Given the description of an element on the screen output the (x, y) to click on. 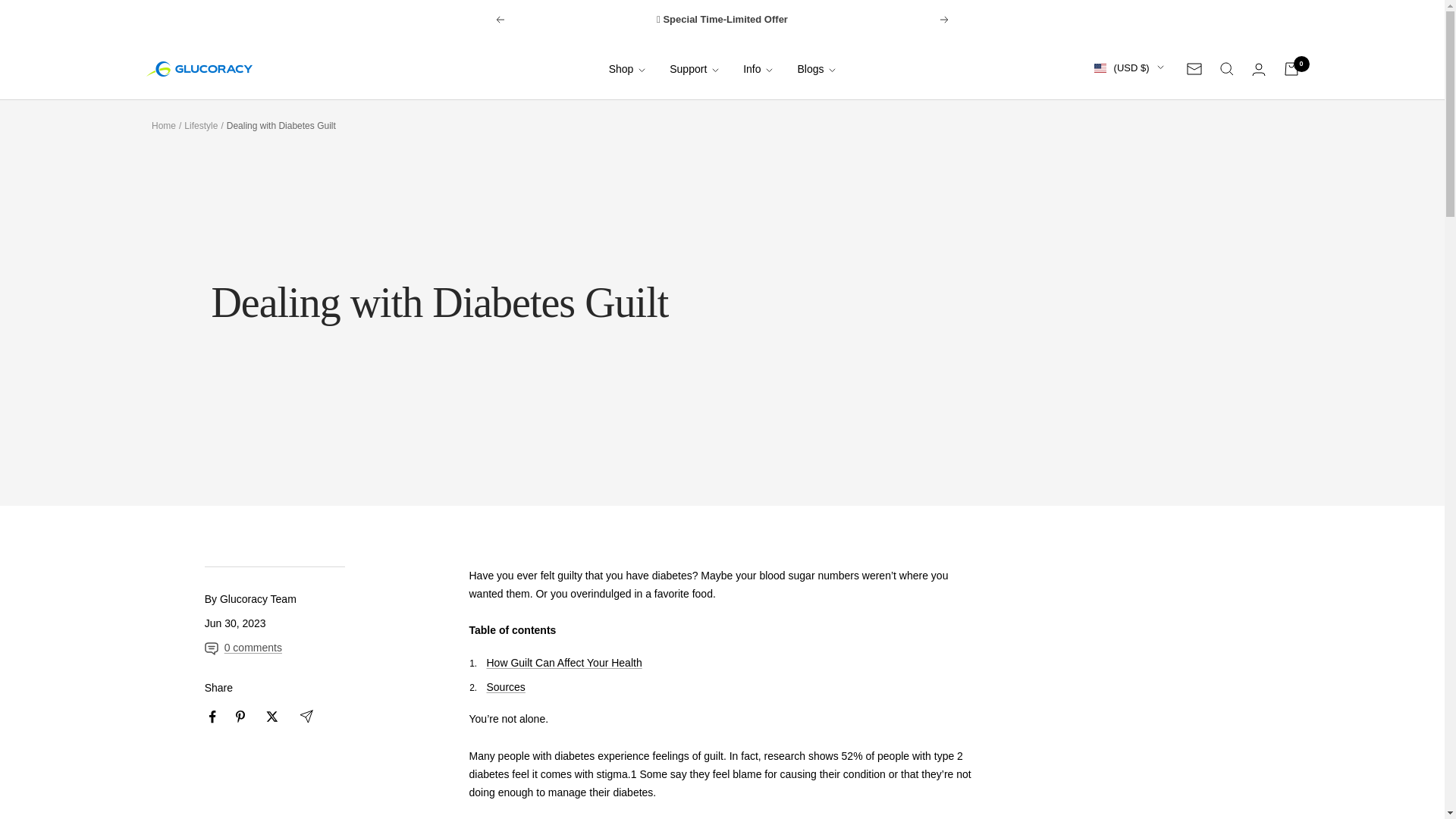
Support (1291, 69)
Shop (694, 68)
CA (627, 68)
GB (1093, 144)
DE (1093, 190)
Next (1093, 167)
Glucoracy (944, 19)
Previous (198, 68)
Blogs (499, 19)
Lifestyle (815, 68)
How Guilt Can Affect Your Health (200, 125)
Newsletter (564, 662)
AU (1194, 69)
US (1093, 120)
